Given the description of an element on the screen output the (x, y) to click on. 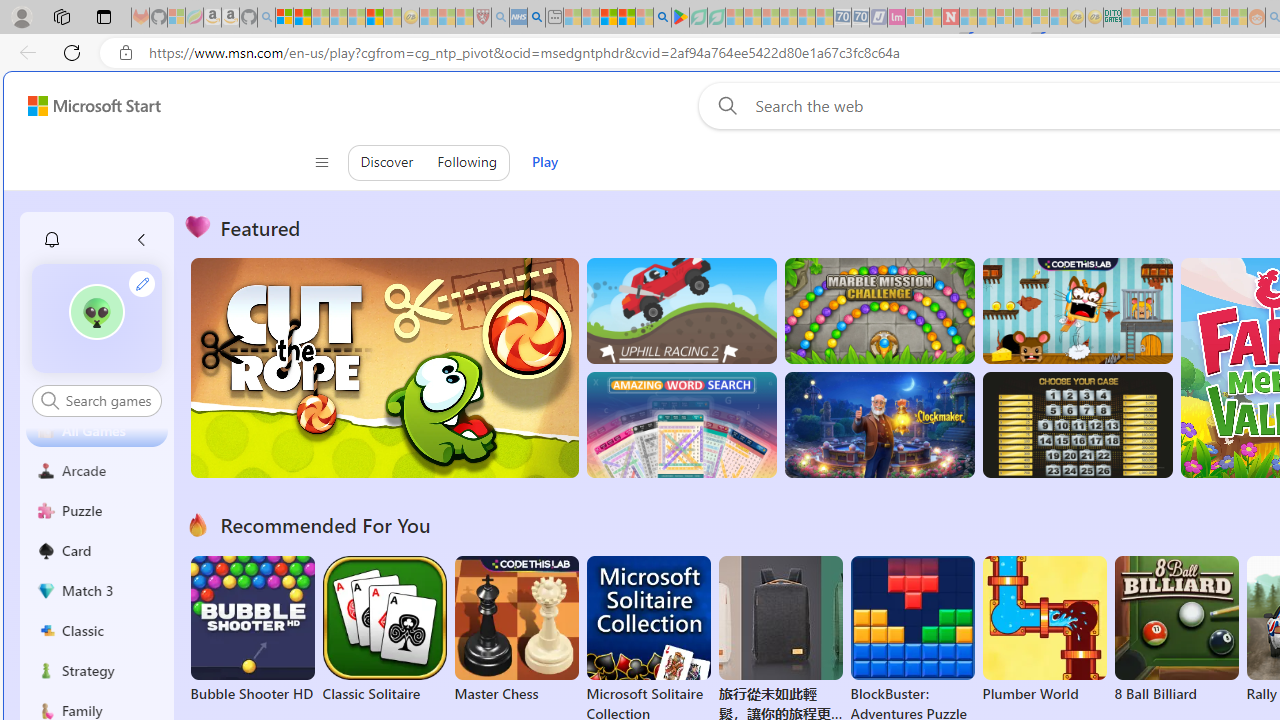
Marble Mission : Challenge (879, 310)
Up Hill Racing 2 (681, 310)
Pets - MSN (626, 17)
